Given the description of an element on the screen output the (x, y) to click on. 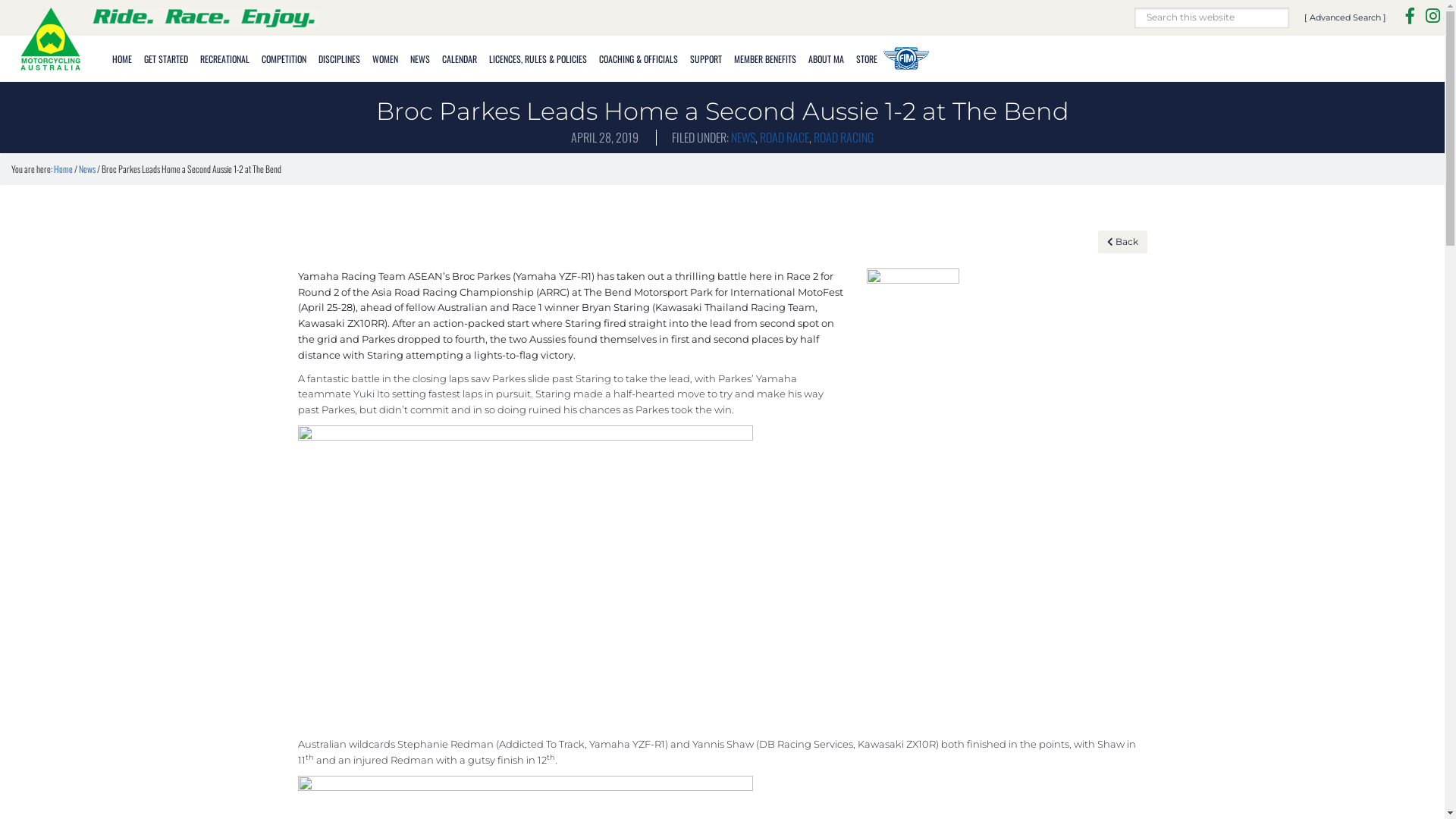
GET STARTED Element type: text (166, 56)
Home Element type: text (62, 168)
STORE Element type: text (866, 56)
DISCIPLINES Element type: text (339, 56)
[ Advanced Search ] Element type: text (1345, 17)
News Element type: text (86, 168)
Motorcycling Australia Element type: text (49, 37)
MEMBER BENEFITS Element type: text (765, 56)
ROAD RACE Element type: text (784, 137)
ROAD RACING Element type: text (843, 137)
CALENDAR Element type: text (459, 56)
COACHING & OFFICIALS Element type: text (638, 56)
Skip to primary navigation Element type: text (0, 0)
COMPETITION Element type: text (283, 56)
SUPPORT Element type: text (706, 56)
Search Element type: text (1288, 6)
Back Element type: text (1122, 241)
LICENCES, RULES & POLICIES Element type: text (538, 56)
NEWS Element type: text (743, 137)
ABOUT MA Element type: text (826, 56)
NEWS Element type: text (420, 56)
WOMEN Element type: text (385, 56)
RECREATIONAL Element type: text (224, 56)
HOME Element type: text (122, 56)
